Given the description of an element on the screen output the (x, y) to click on. 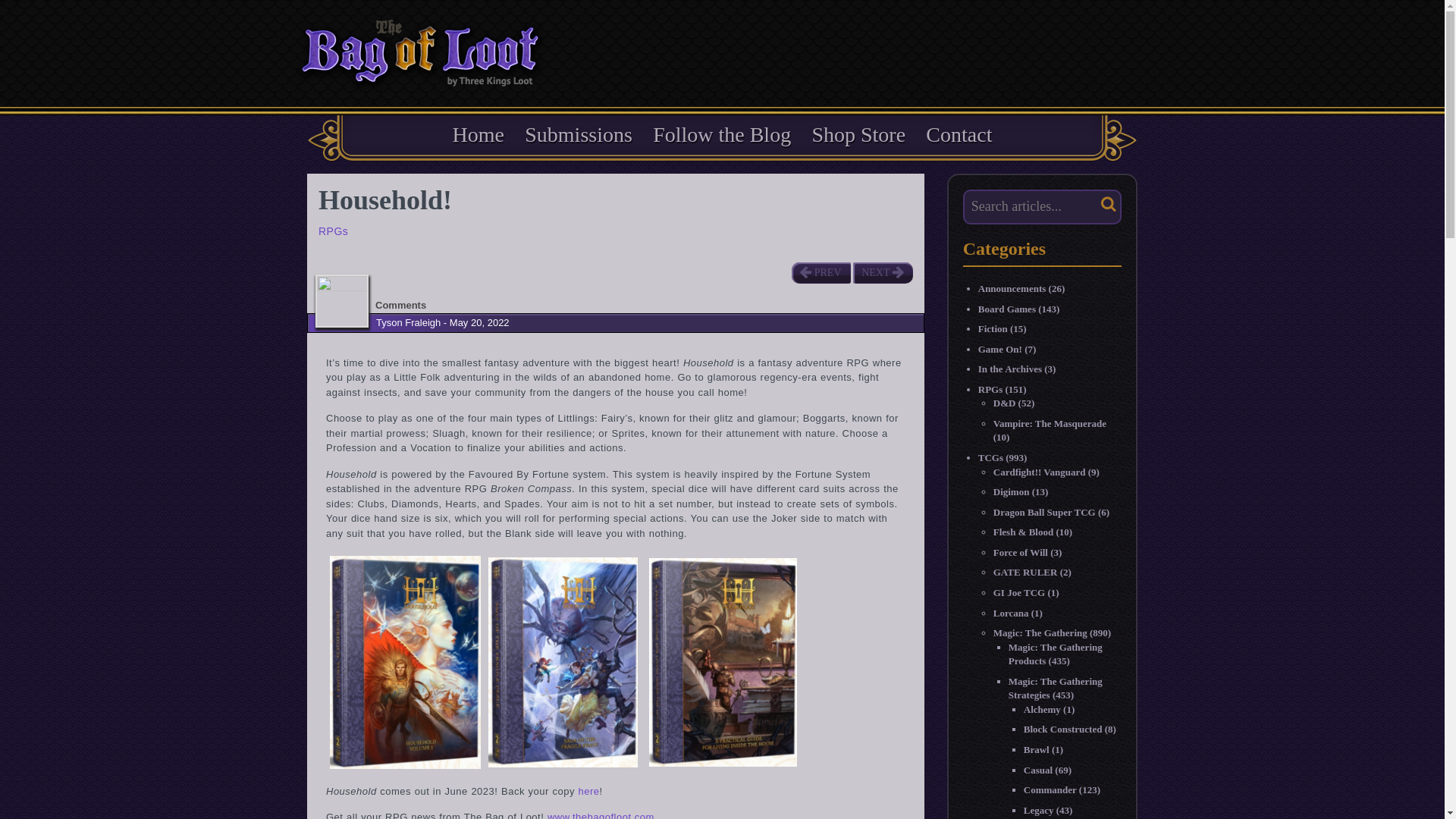
Announcements (1012, 288)
In the Archives (1010, 368)
Cardfight!! Vanguard (1039, 471)
Vampire: The Masquerade (1049, 423)
Shop Store (858, 134)
Digimon (1010, 491)
Submissions (578, 134)
here (588, 790)
NEXT (881, 272)
TCGs (990, 457)
